Given the description of an element on the screen output the (x, y) to click on. 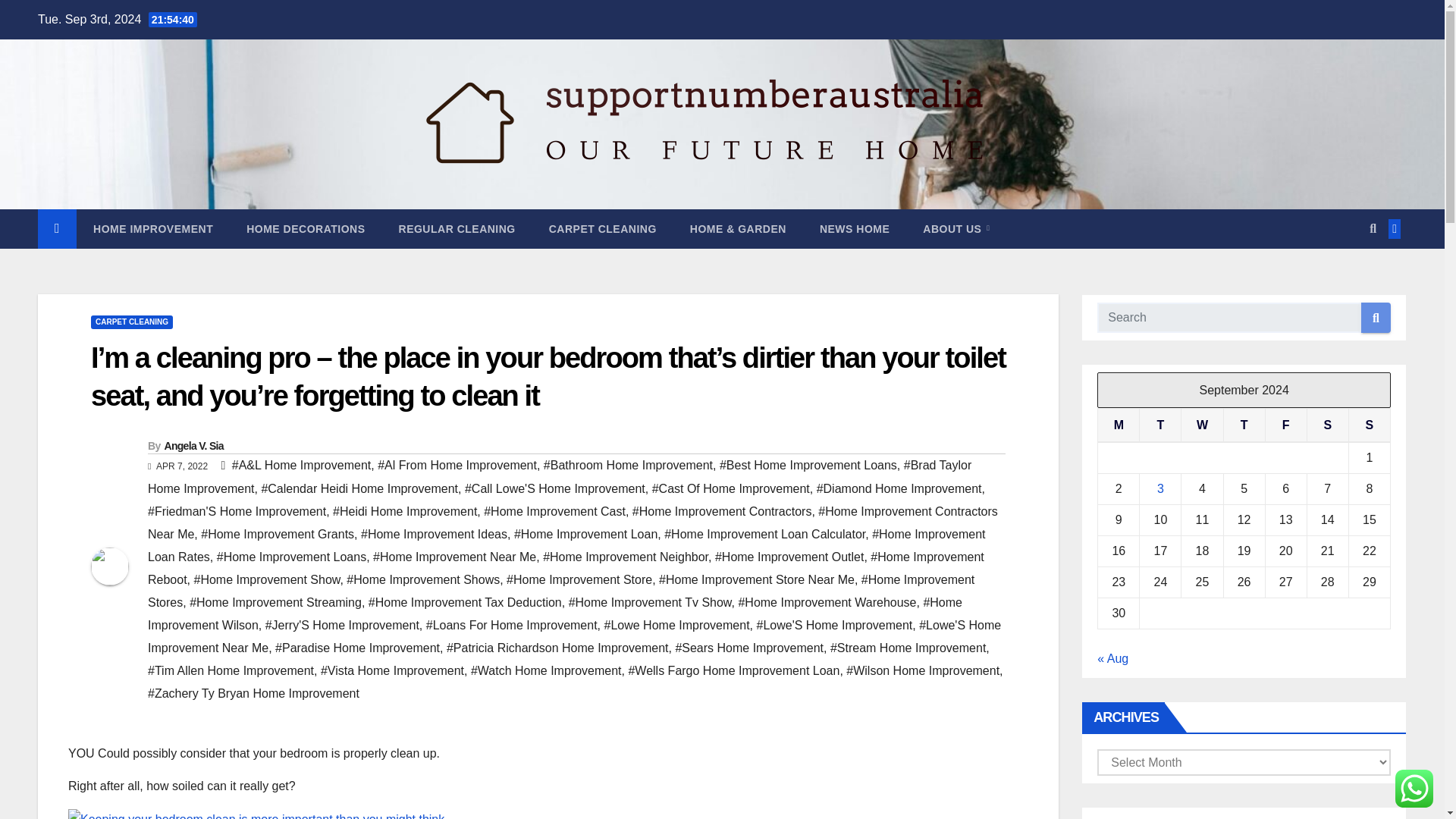
REGULAR CLEANING (456, 228)
CARPET CLEANING (131, 322)
CARPET CLEANING (602, 228)
HOME IMPROVEMENT (153, 228)
ABOUT US (955, 228)
Home Improvement (153, 228)
HOME DECORATIONS (305, 228)
Regular Cleaning (456, 228)
News Home (854, 228)
Angela V. Sia (192, 445)
